Given the description of an element on the screen output the (x, y) to click on. 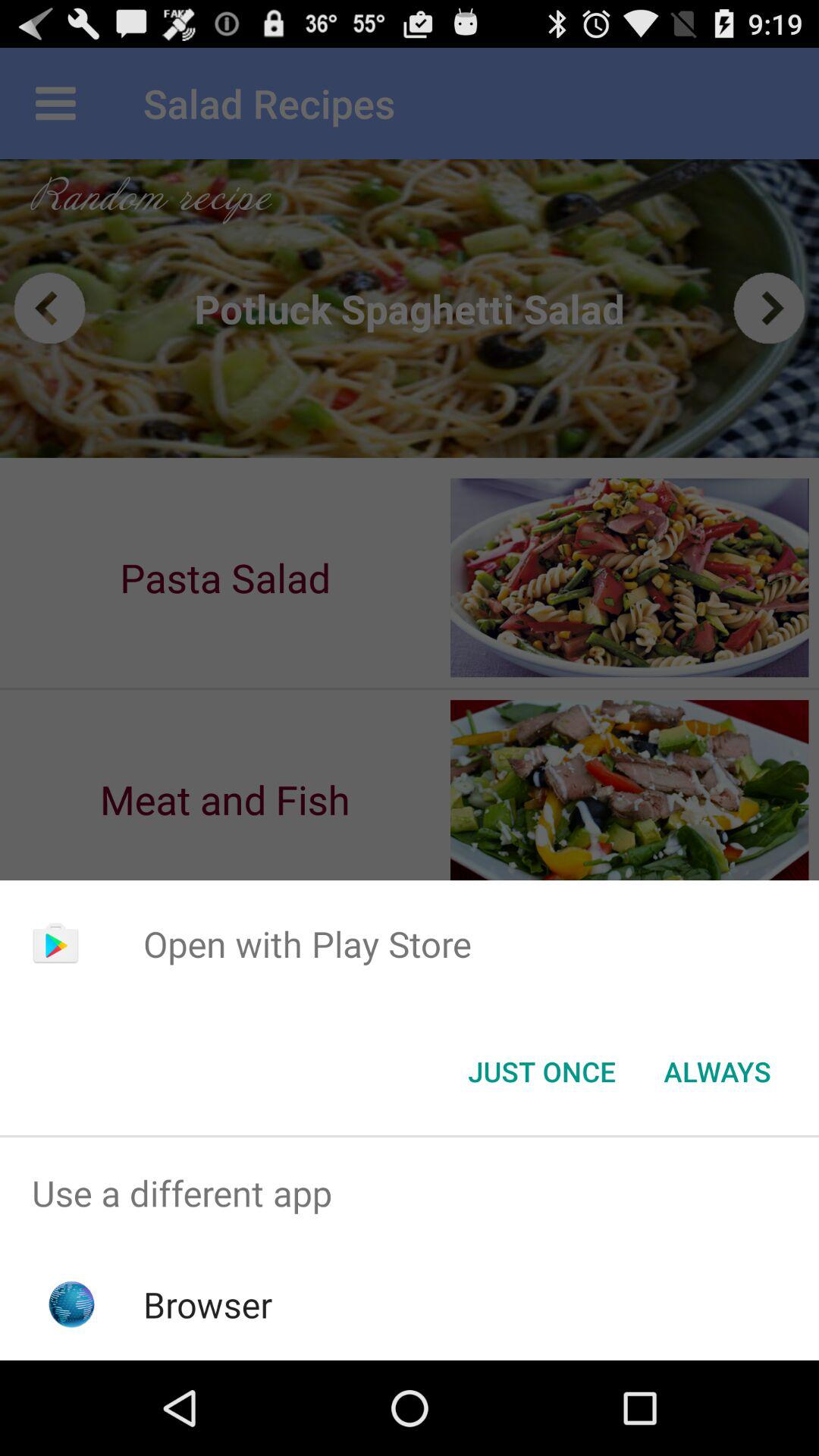
open use a different app (409, 1192)
